Given the description of an element on the screen output the (x, y) to click on. 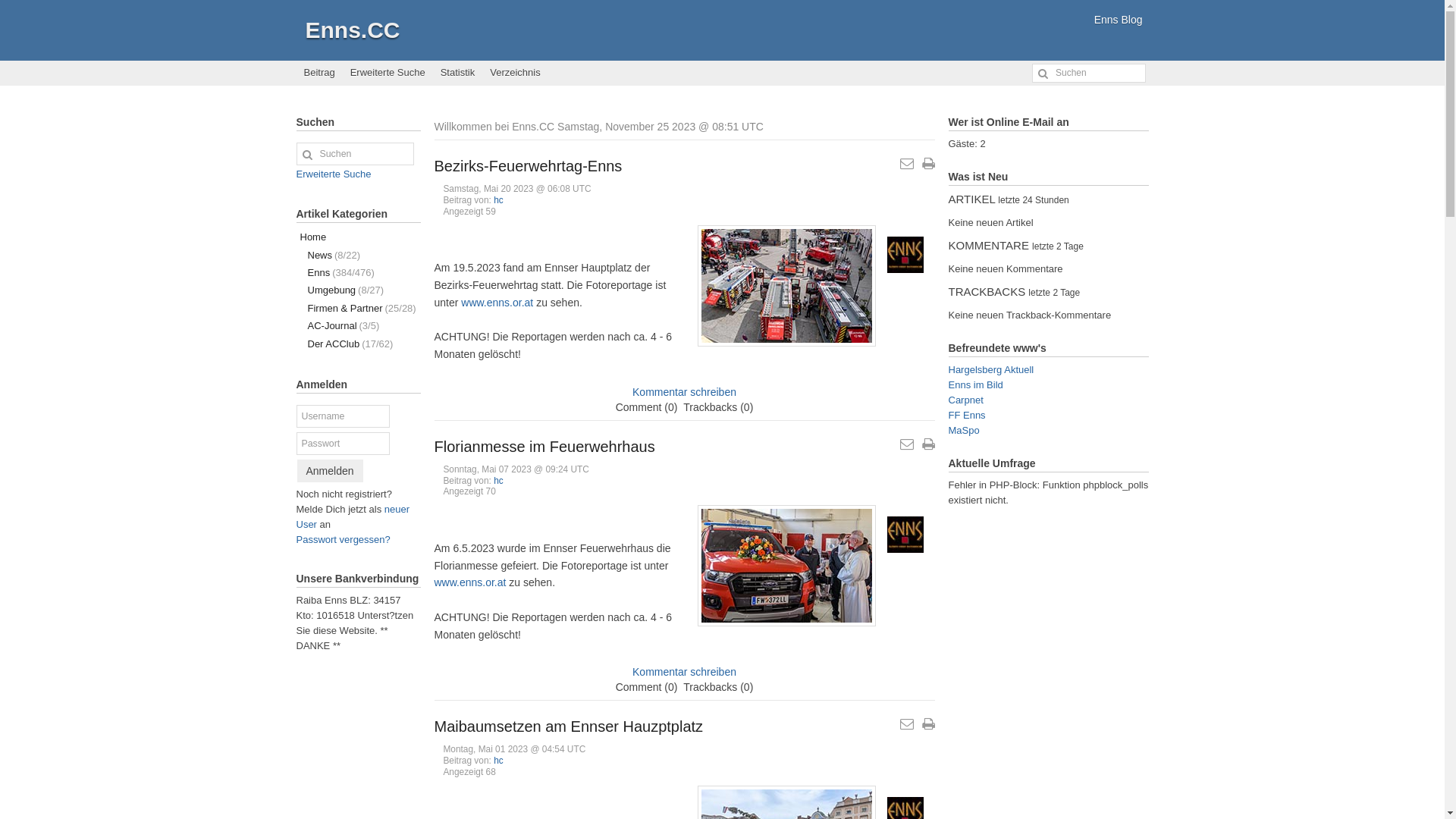
Enns(384/476) Element type: text (357, 272)
MaSpo Element type: text (963, 430)
Beitrag Element type: text (318, 72)
Erweiterte Suche Element type: text (387, 72)
Passwort vergessen? Element type: text (342, 539)
Maibaumsetzen am Ennser Hauzptplatz Element type: text (567, 726)
www.enns.or.at Element type: text (497, 302)
Florianmesse im Feuerwehrhaus Element type: text (543, 446)
Der ACClub(17/62) Element type: text (357, 343)
hc Element type: text (498, 760)
An einen Freund schicken Element type: hover (906, 163)
Anmelden Element type: text (330, 470)
Enns Element type: hover (905, 534)
hc Element type: text (498, 479)
Umgebung(8/27) Element type: text (357, 289)
FF Enns Element type: text (966, 414)
Enns.CC Element type: text (351, 29)
News(8/22) Element type: text (357, 254)
Kommentar schreiben Element type: text (684, 671)
www.enns.or.at Element type: text (469, 582)
hc Element type: text (498, 199)
An einen Freund schicken Element type: hover (906, 724)
Verzeichnis Element type: text (514, 72)
Enns im Bild Element type: text (974, 384)
Statistik Element type: text (458, 72)
Bezirks-Feuerwehrtag-Enns Element type: text (527, 165)
Enns Element type: hover (905, 254)
Firmen & Partner(25/28) Element type: text (357, 307)
Erweiterte Suche Element type: text (332, 173)
AC-Journal(3/5) Element type: text (357, 325)
Hargelsberg Aktuell Element type: text (990, 369)
Kommentar schreiben Element type: text (684, 391)
An einen Freund schicken Element type: hover (906, 444)
neuer User Element type: text (352, 516)
Carpnet Element type: text (964, 399)
Home Element type: text (357, 236)
